Given the description of an element on the screen output the (x, y) to click on. 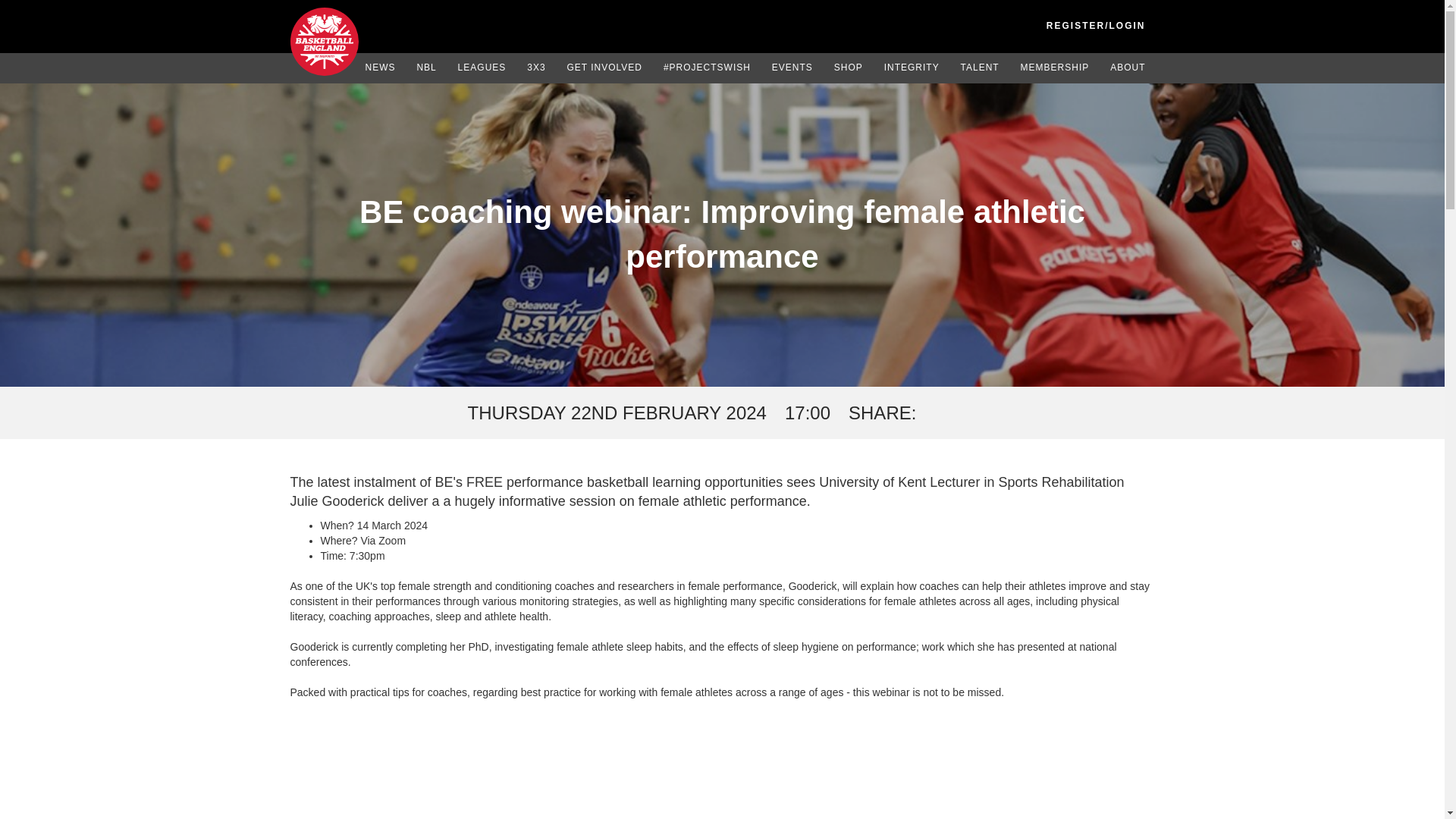
Tweet this article (961, 412)
3X3 (536, 68)
NEWS (379, 68)
LEAGUES (481, 68)
Share this article on Facebook (930, 412)
NBL (426, 68)
GET INVOLVED (603, 68)
